Given the description of an element on the screen output the (x, y) to click on. 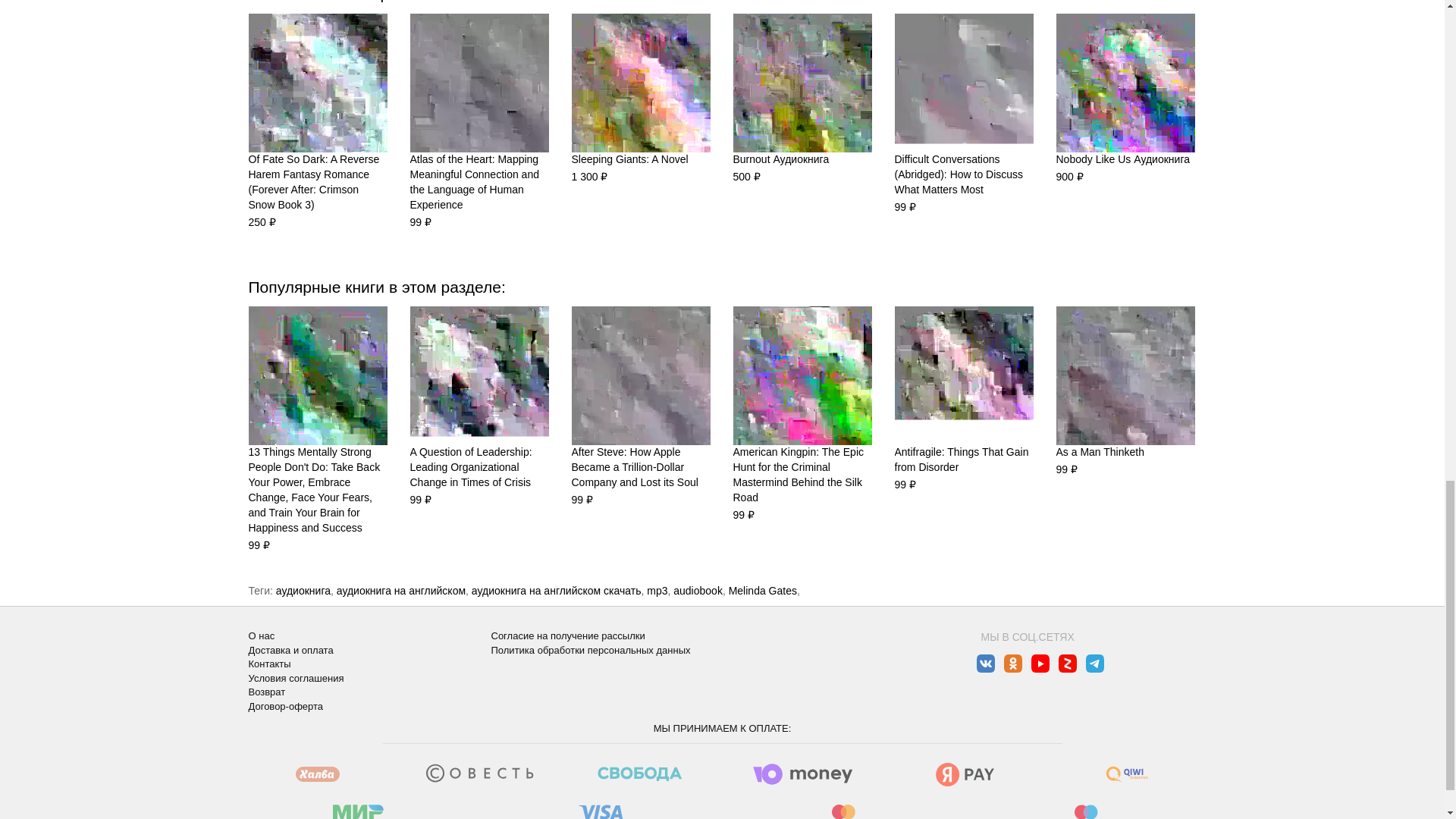
Sleeping Giants: A Novel (641, 82)
